Given the description of an element on the screen output the (x, y) to click on. 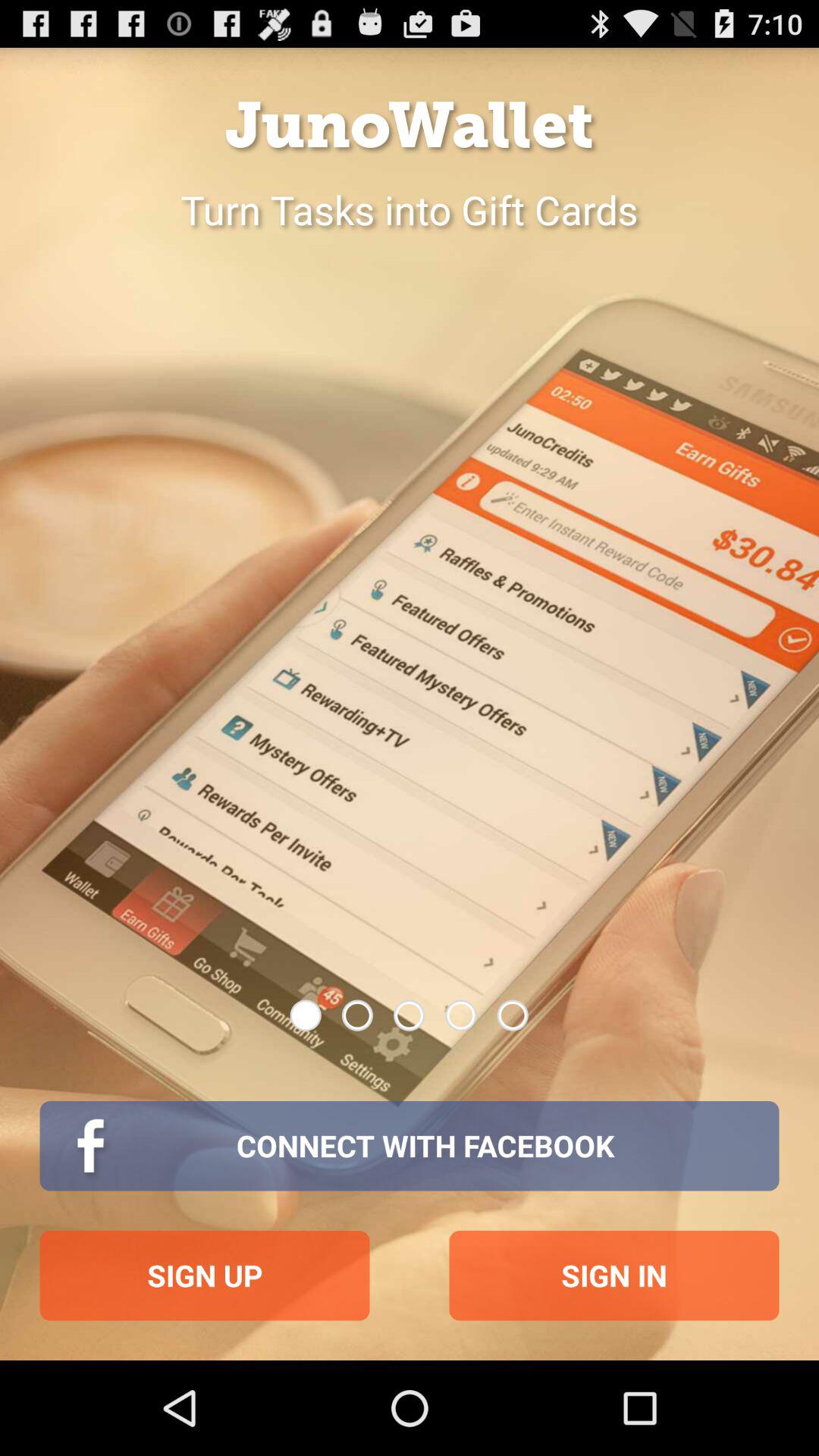
turn off item above sign up item (409, 1145)
